Given the description of an element on the screen output the (x, y) to click on. 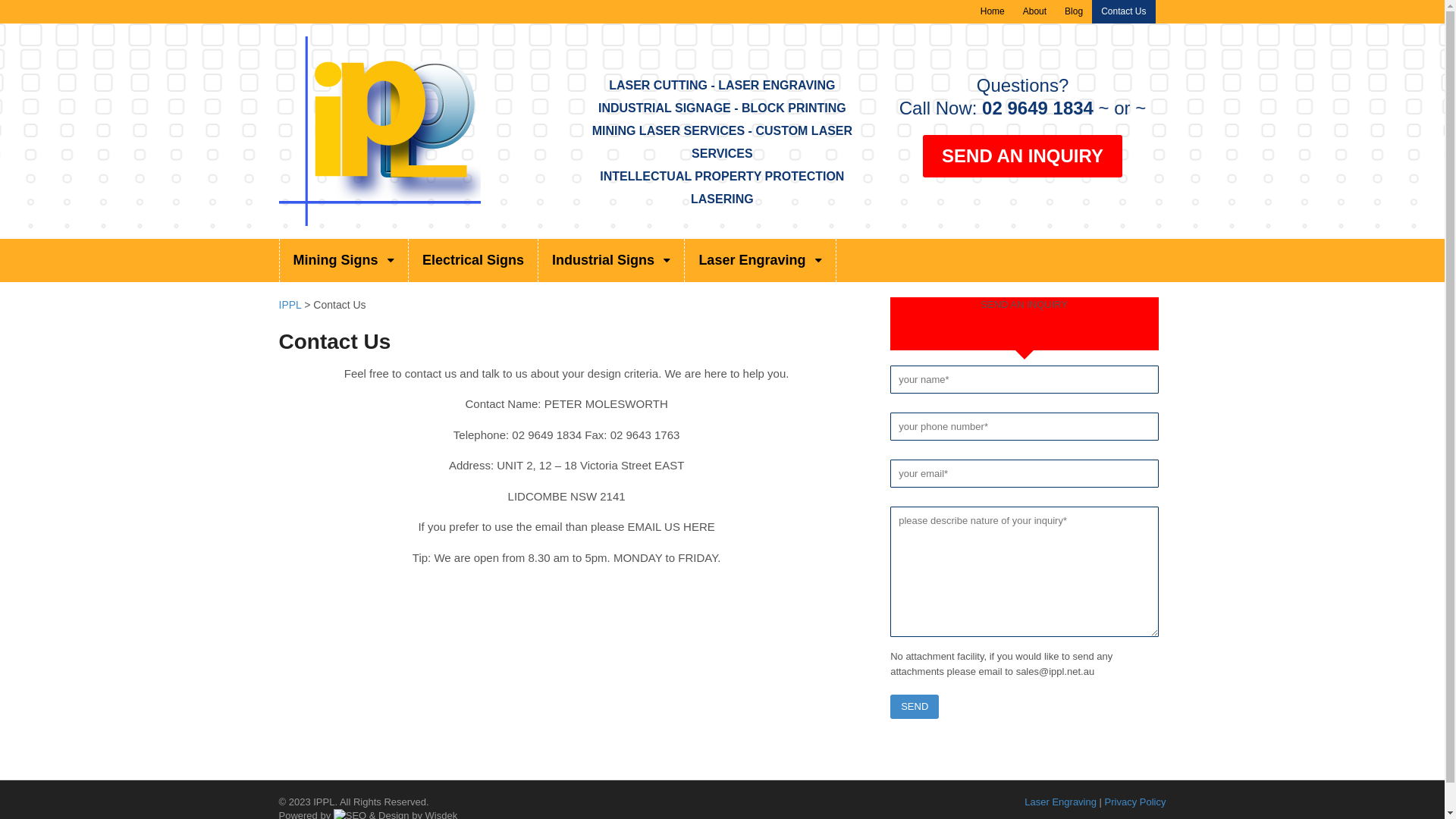
Privacy Policy Element type: text (1135, 801)
SEND AN INQUIRY Element type: text (1022, 156)
Laser Engraving Element type: text (759, 260)
Contact Us Element type: text (1123, 11)
Mining Signs Element type: text (343, 260)
Send Element type: text (914, 706)
Electrical Signs Element type: text (472, 260)
Home Element type: text (992, 11)
Laser Engraving Element type: text (1060, 801)
Blog Element type: text (1073, 11)
IPPL Element type: text (290, 304)
Laser Engraving | Signs | Name Plates Element type: hover (379, 217)
Industrial Signs Element type: text (611, 260)
About Element type: text (1034, 11)
